Given the description of an element on the screen output the (x, y) to click on. 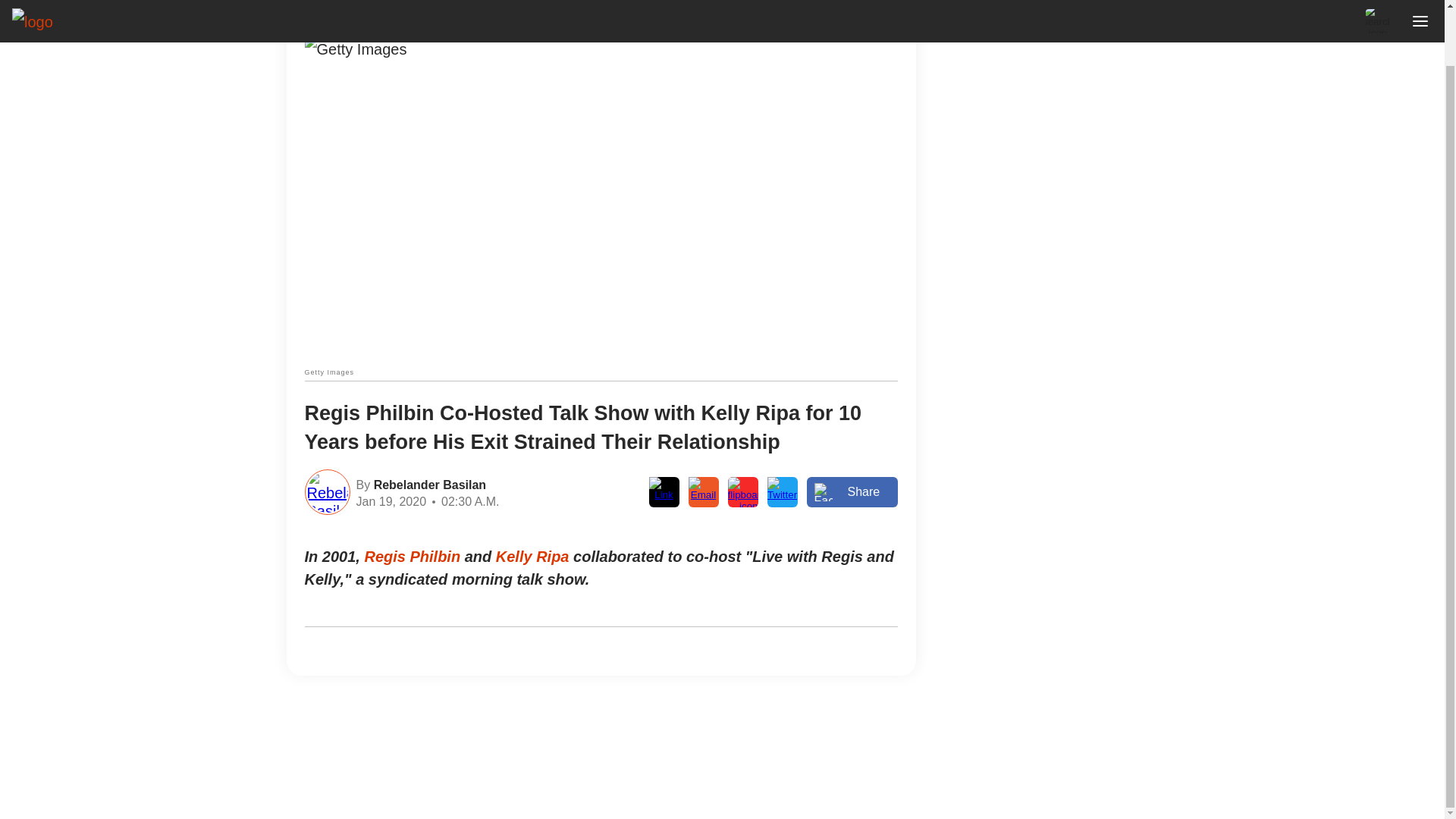
NEWS (363, 16)
HOME (318, 16)
Rebelander Basilan (427, 483)
